Given the description of an element on the screen output the (x, y) to click on. 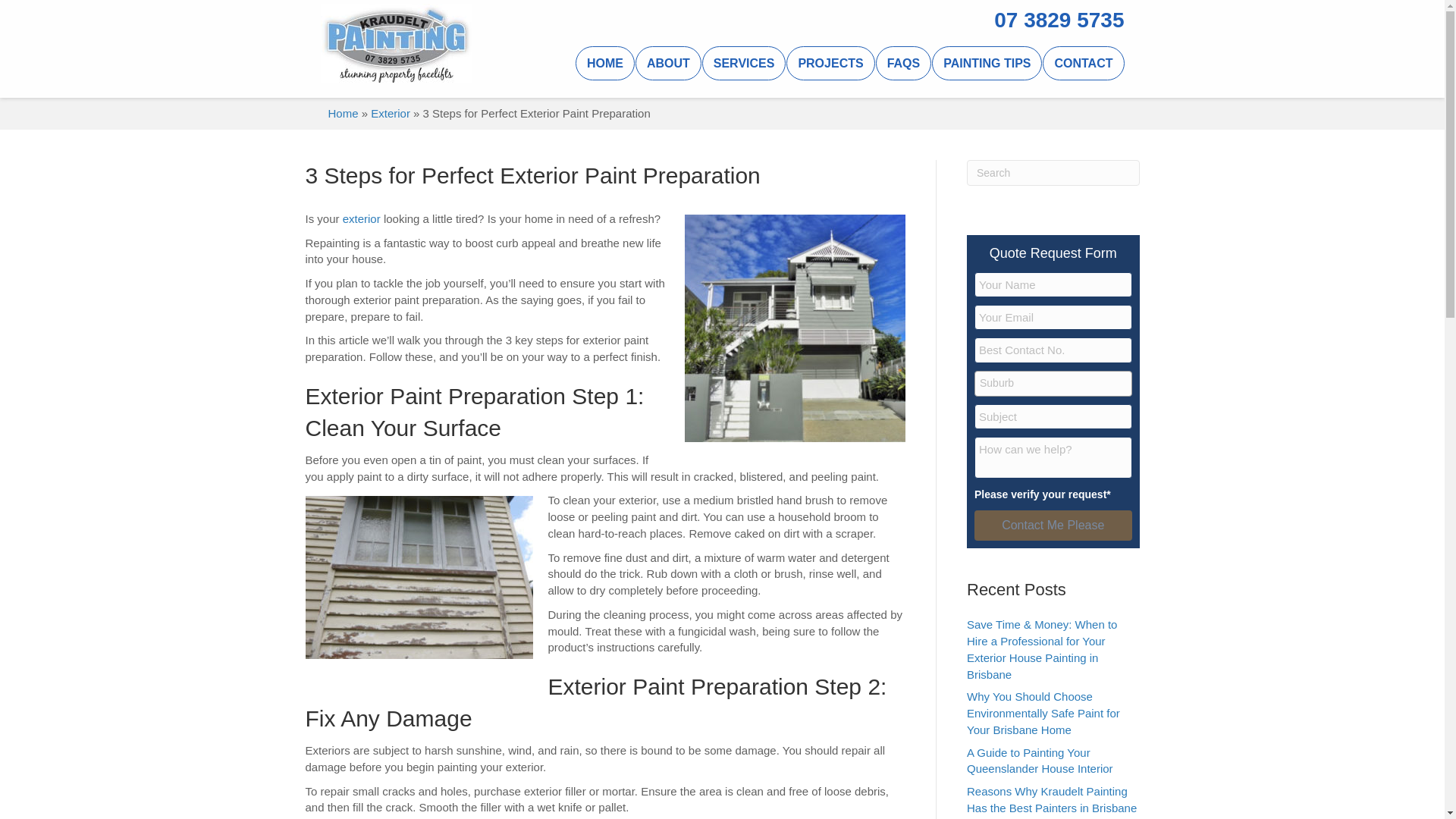
FAQS (903, 62)
ABOUT (667, 62)
PROJECTS (830, 62)
3 Steps for Perfect Exterior Paint Preparation 2 (418, 577)
HOME (604, 62)
CONTACT (1083, 62)
PAINTING TIPS (986, 62)
07 3829 5735 (1059, 19)
07 3829 5735 (1059, 19)
Type and press Enter to search. (1053, 172)
3 Steps for Perfect Exterior Paint Preparation 1 (794, 328)
SERVICES (743, 62)
